Given the description of an element on the screen output the (x, y) to click on. 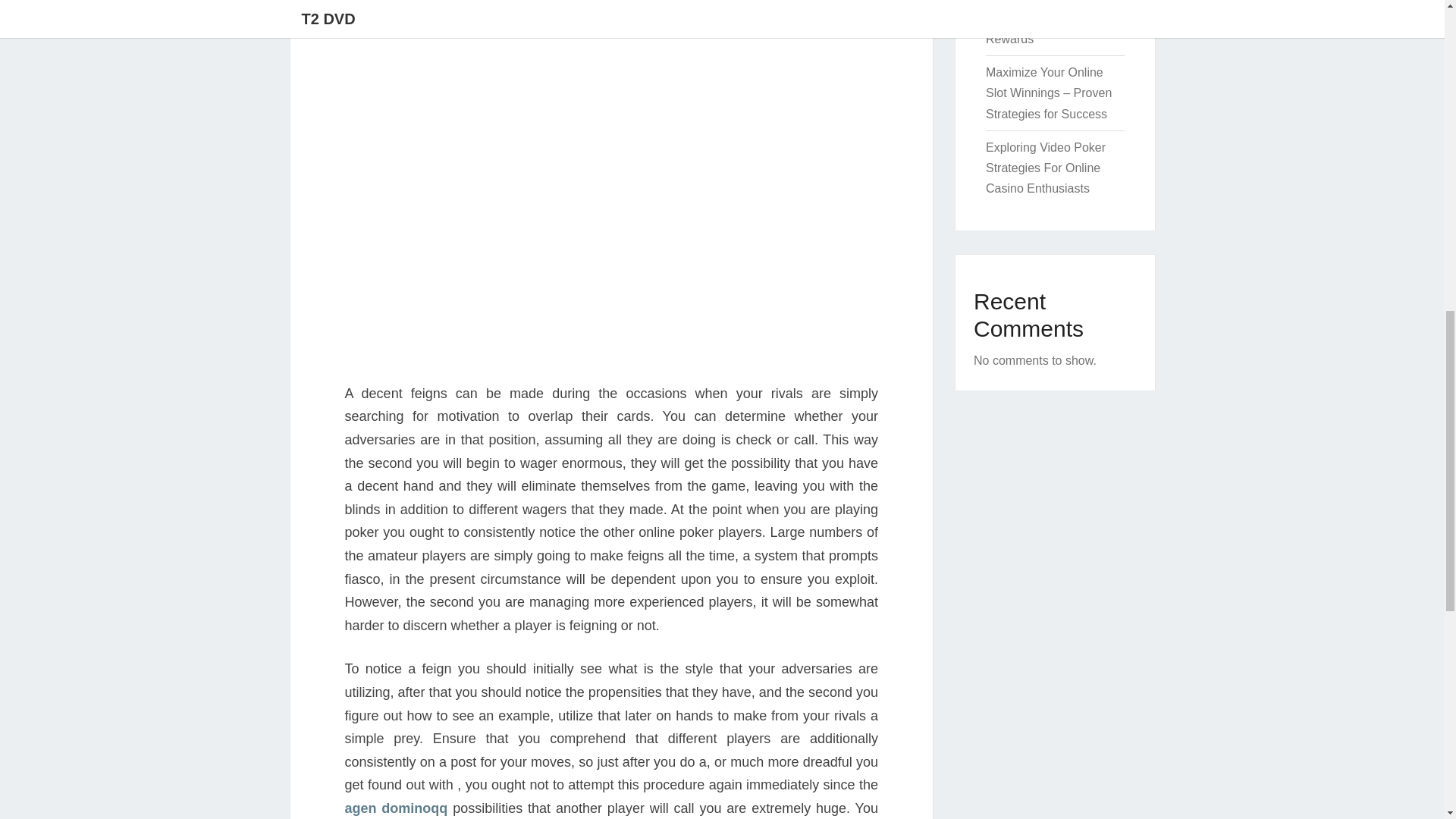
agen dominoqq (394, 807)
